Given the description of an element on the screen output the (x, y) to click on. 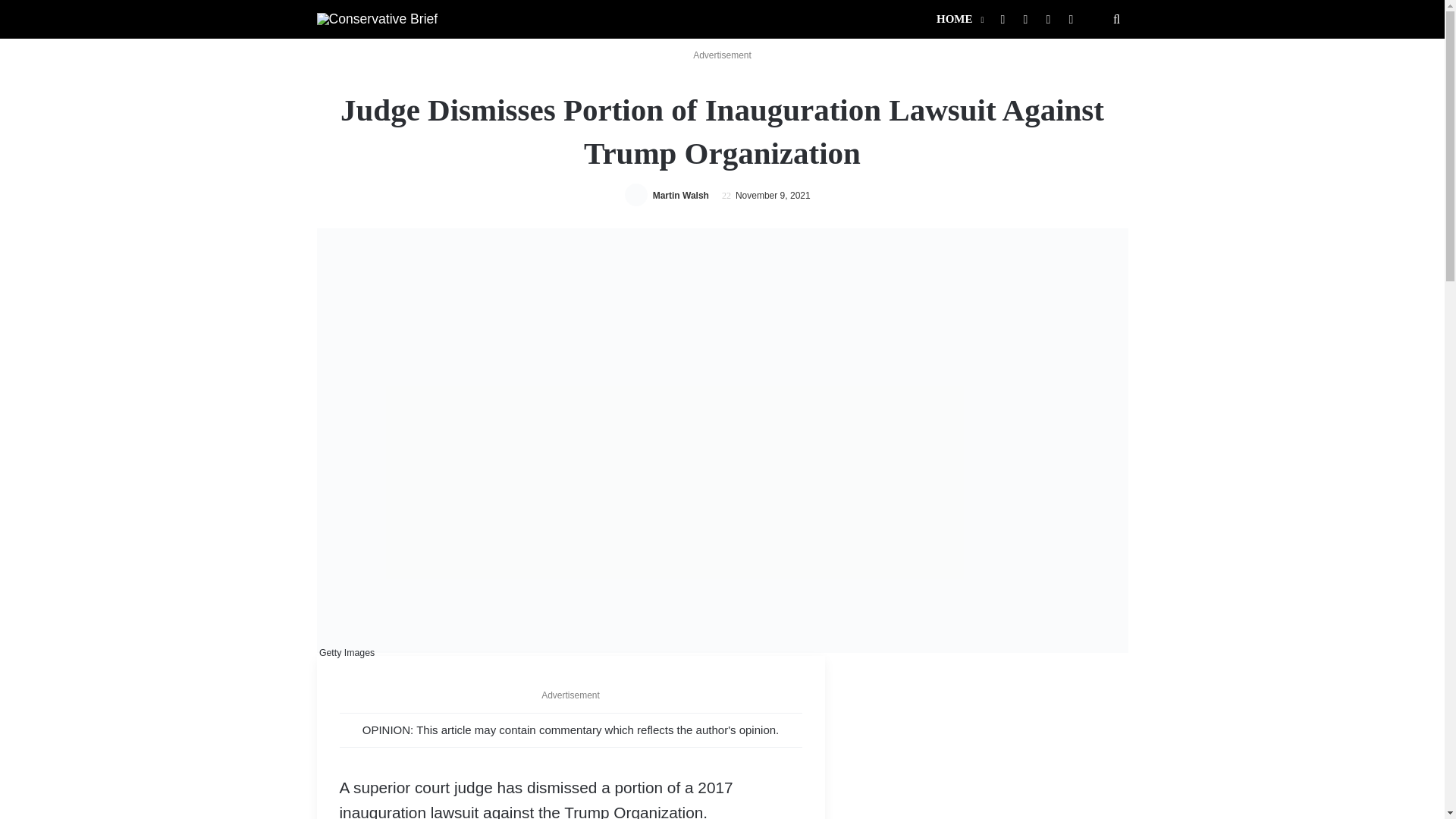
HOME (958, 19)
Martin Walsh (680, 195)
Conservative Brief (377, 18)
Martin Walsh (680, 195)
